Given the description of an element on the screen output the (x, y) to click on. 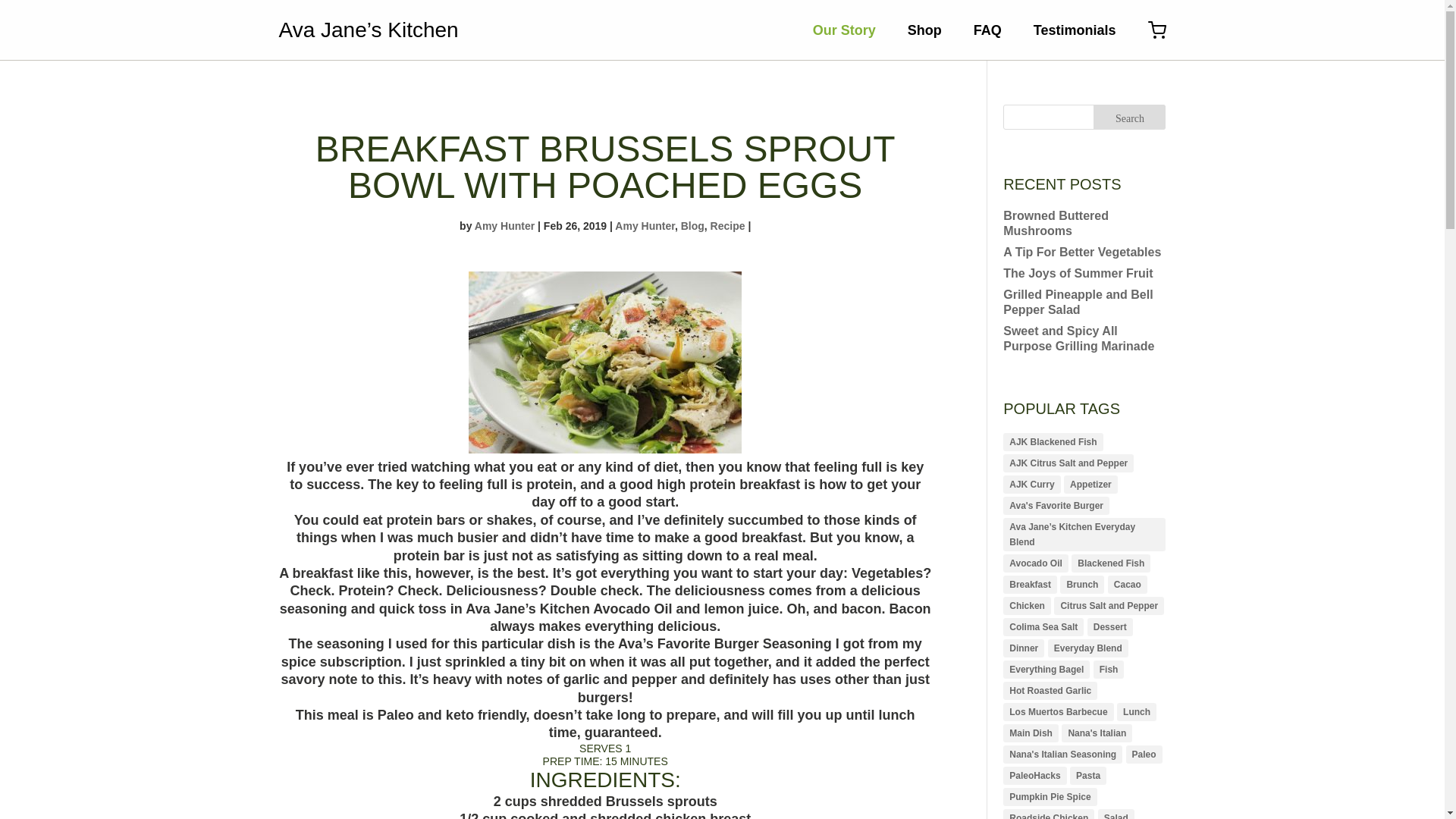
Our Story (844, 29)
The Joys of Summer Fruit (1078, 273)
Sweet and Spicy All Purpose Grilling Marinade (1078, 338)
A Tip For Better Vegetables (1081, 251)
Browned Buttered Mushrooms (1055, 223)
Search (1129, 116)
AJK Curry (1031, 484)
Posts by Amy Hunter (504, 225)
AJK Citrus Salt and Pepper (1068, 463)
Testimonials (1074, 29)
